Given the description of an element on the screen output the (x, y) to click on. 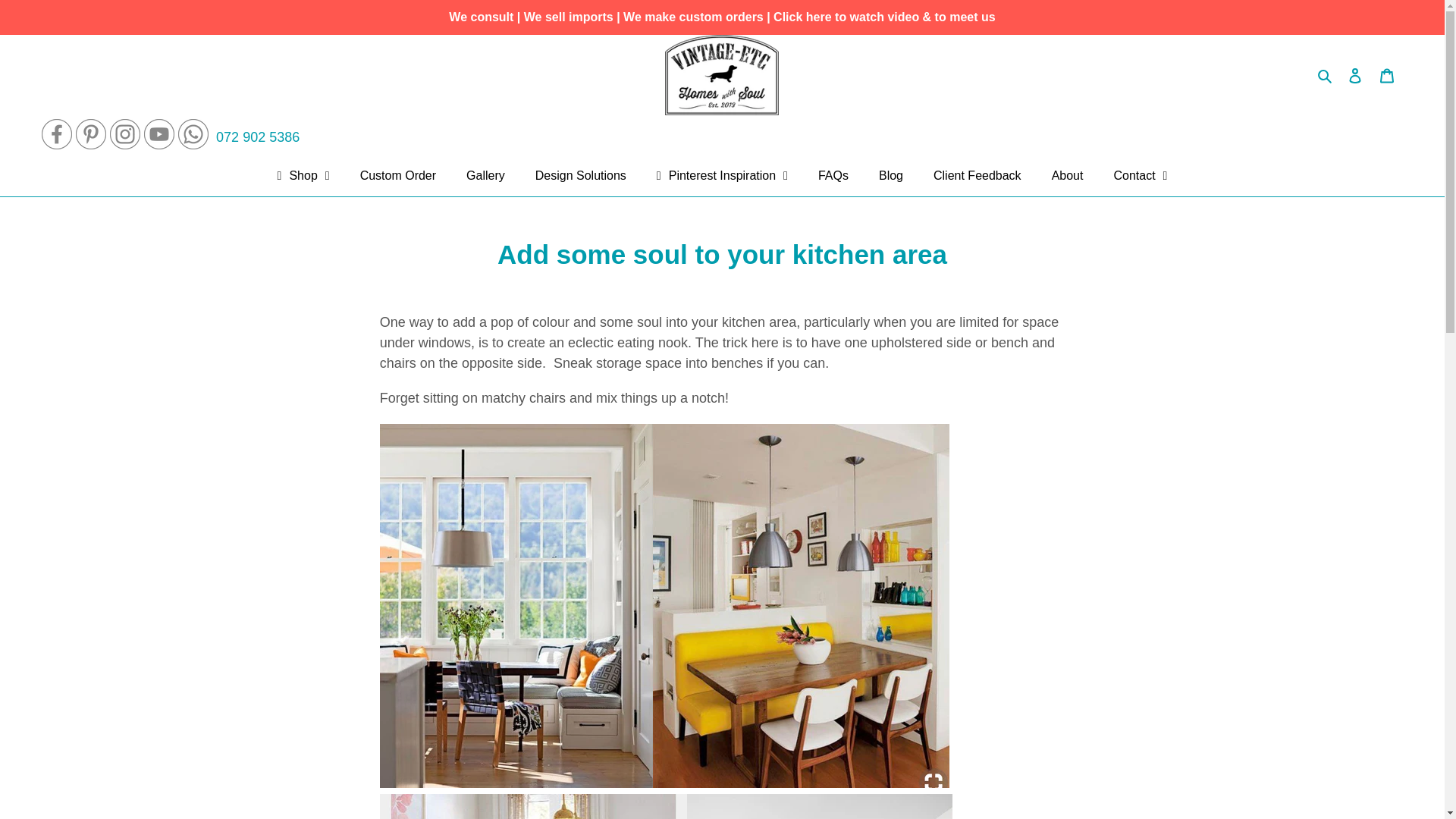
Quote Cart (1387, 75)
Log in (1355, 75)
Search (1326, 74)
